Given the description of an element on the screen output the (x, y) to click on. 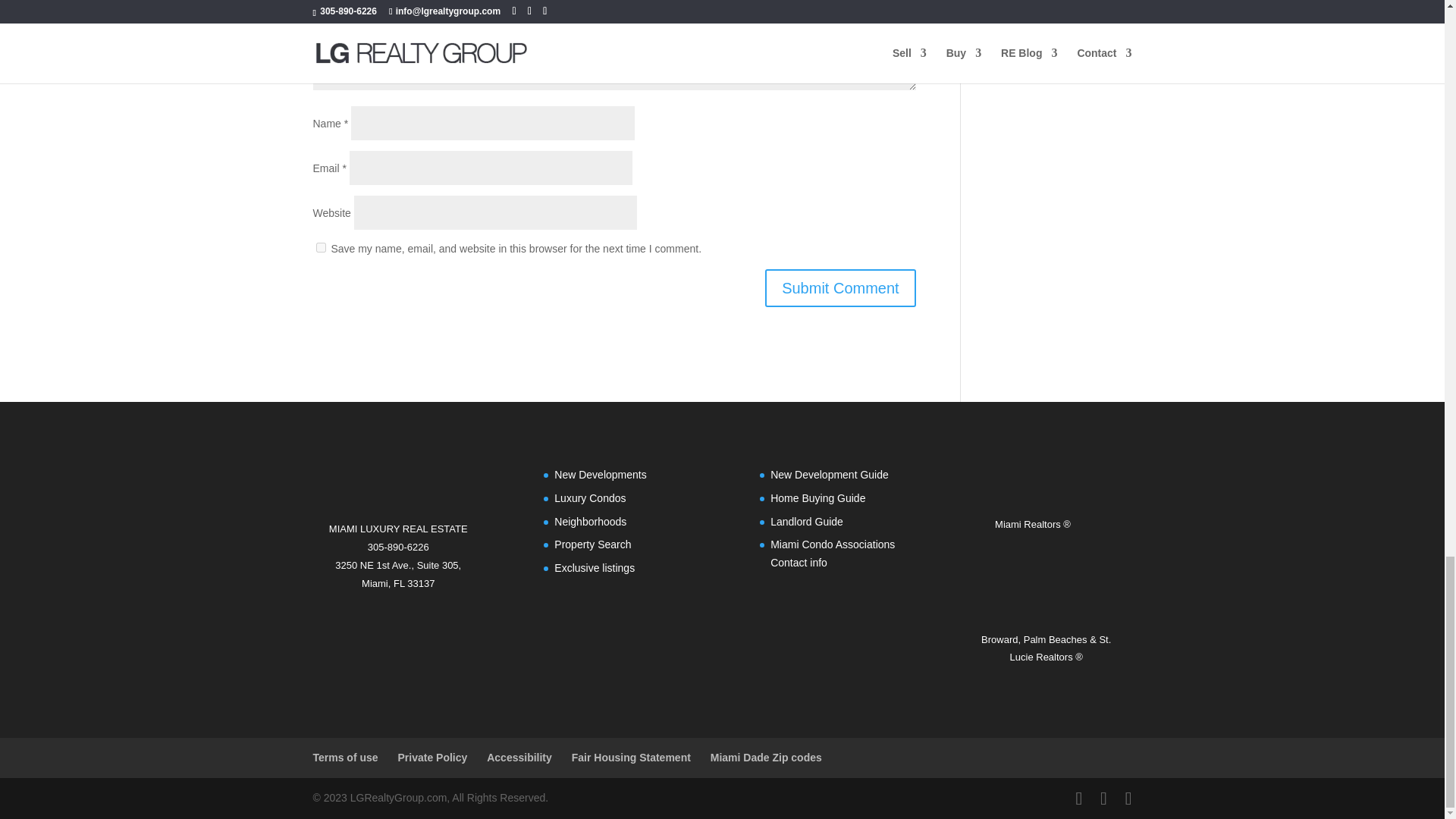
yes (319, 247)
Submit Comment (840, 288)
